Given the description of an element on the screen output the (x, y) to click on. 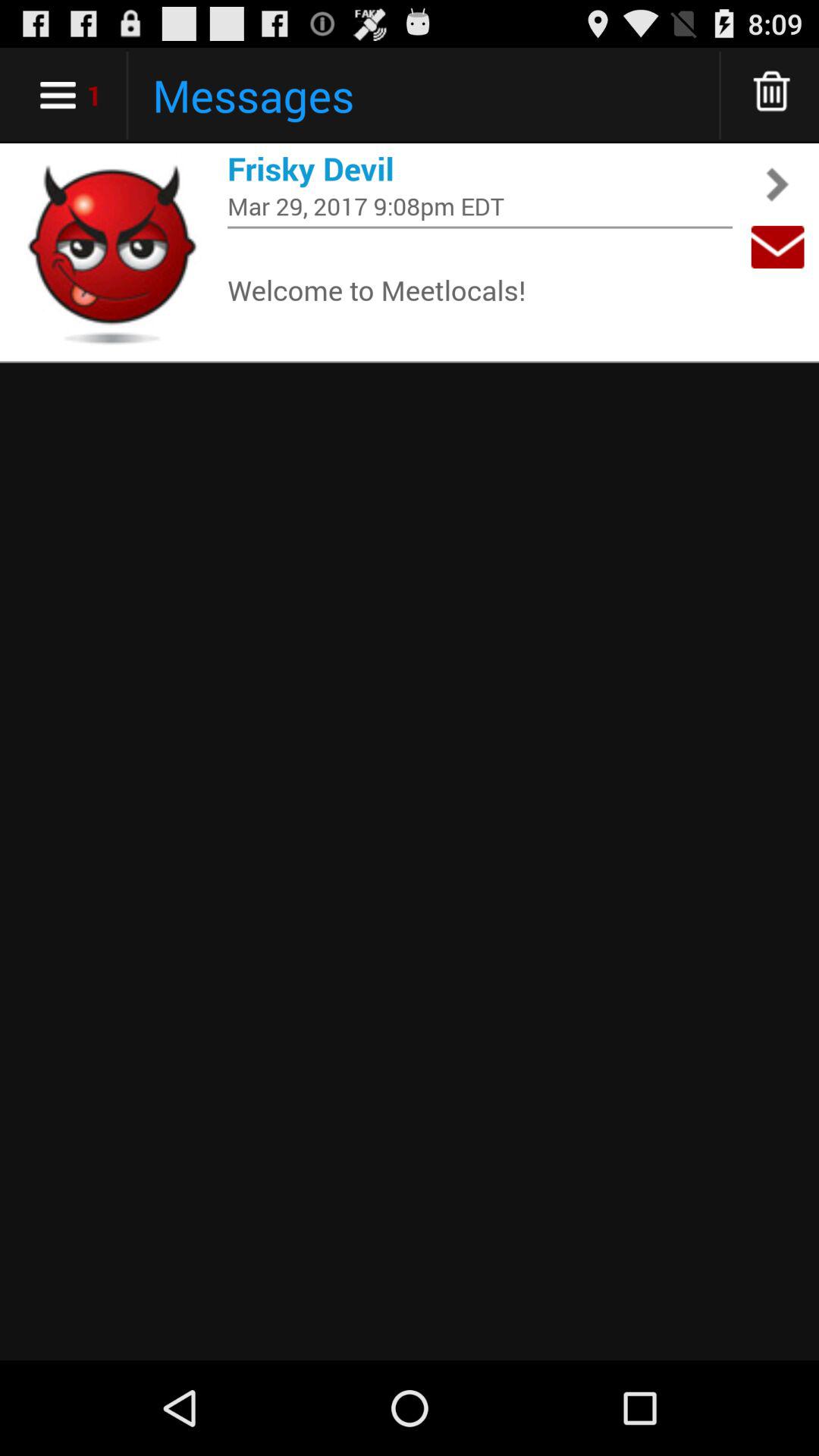
select the welcome to meetlocals icon (479, 289)
